Given the description of an element on the screen output the (x, y) to click on. 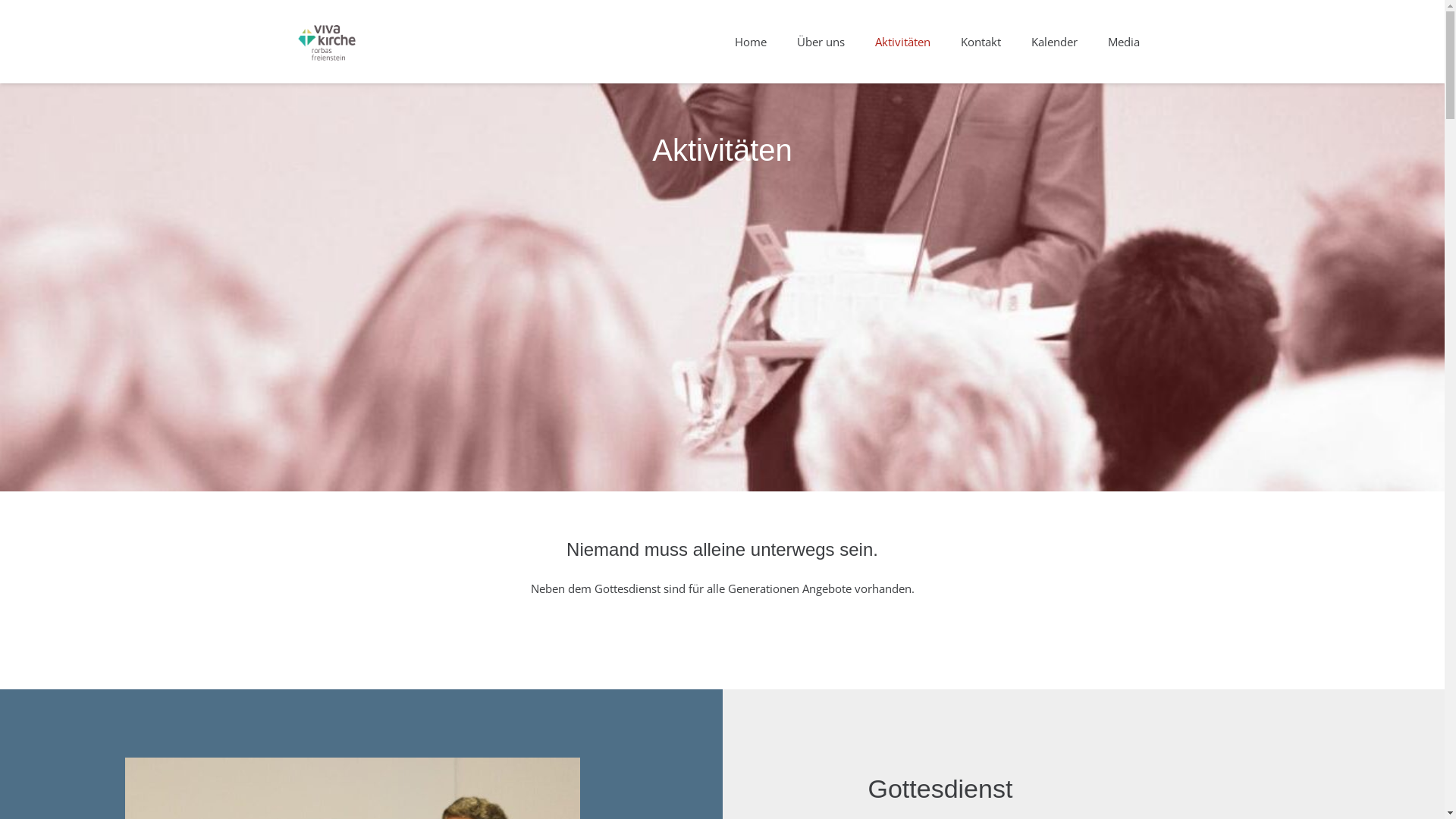
Home Element type: text (749, 41)
Kalender Element type: text (1054, 41)
Media Element type: text (1123, 41)
Kontakt Element type: text (979, 41)
